Given the description of an element on the screen output the (x, y) to click on. 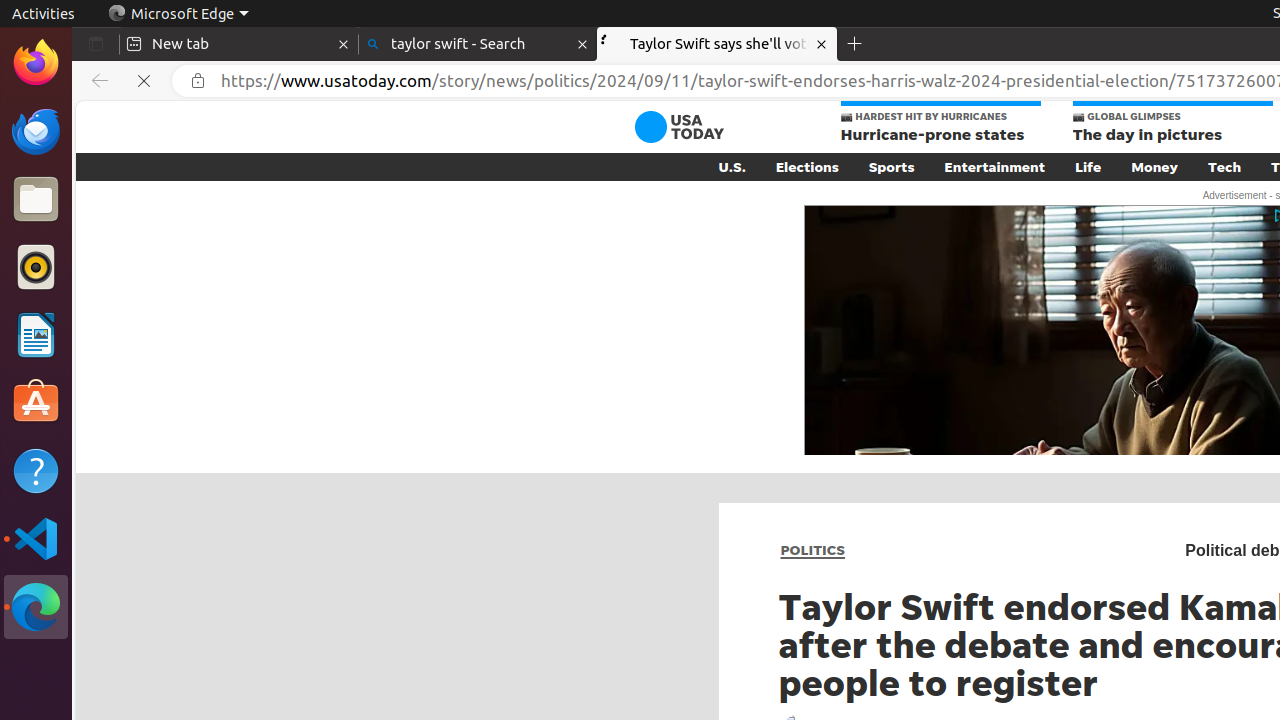
View site information Element type: push-button (198, 81)
U.S. Element type: link (732, 167)
📷 GLOBAL GLIMPSES The day in pictures Element type: link (1172, 123)
LibreOffice Writer Element type: push-button (36, 334)
Rhythmbox Element type: push-button (36, 267)
